Given the description of an element on the screen output the (x, y) to click on. 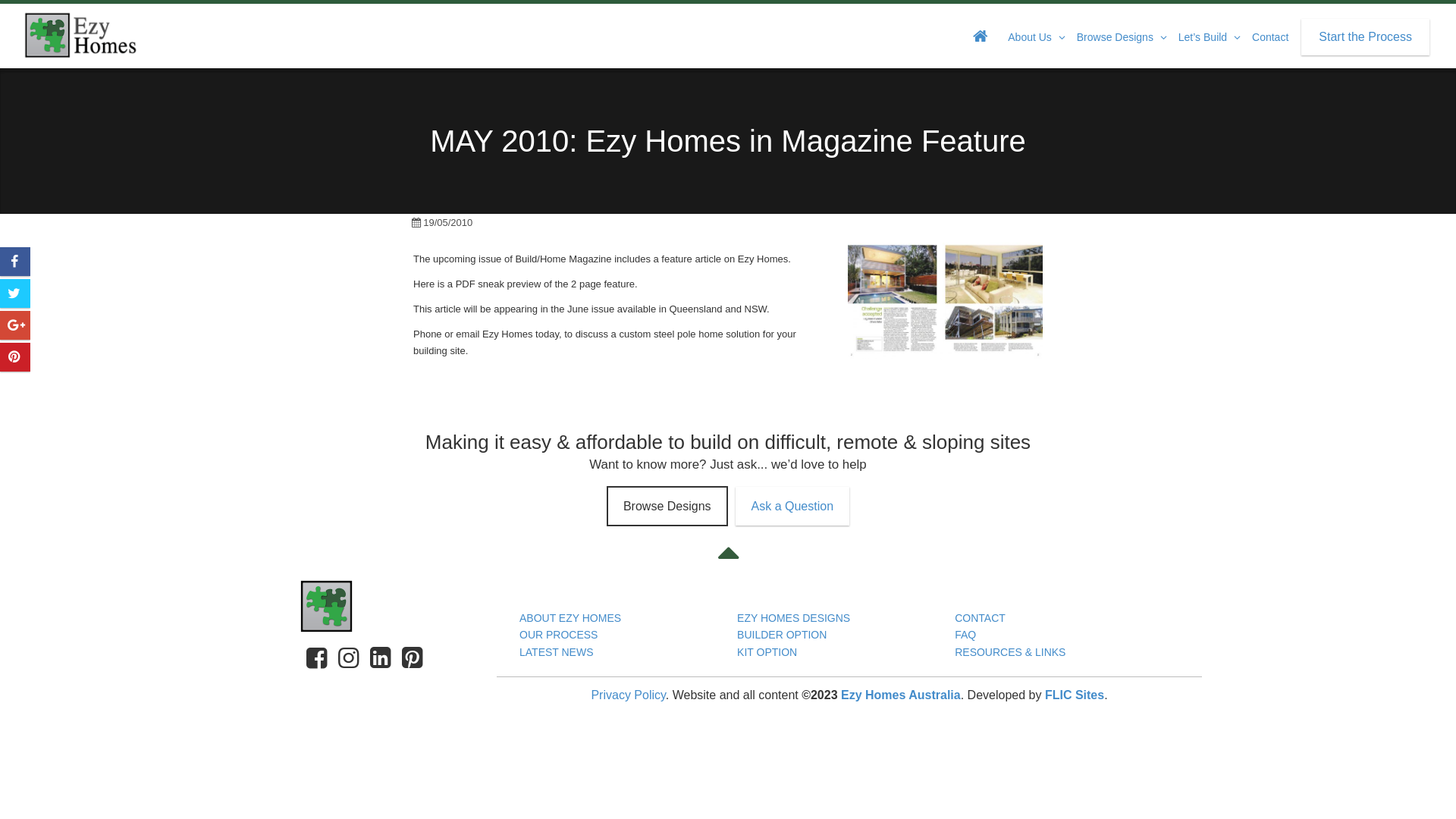
Ask a Question Element type: text (792, 505)
EZY HOMES DESIGNS Element type: text (793, 617)
About Us Element type: text (1032, 36)
FAQ Element type: text (964, 634)
FLIC Sites Element type: text (1074, 694)
Ezy Homes Australia Element type: hover (80, 34)
Ezy Homes Build Home Feature Element type: hover (944, 300)
Privacy Policy Element type: text (627, 694)
Browse Designs Element type: text (667, 506)
LATEST NEWS Element type: text (556, 652)
RESOURCES & LINKS Element type: text (1009, 652)
Home Element type: hover (980, 36)
Ezy-Logo Element type: hover (363, 605)
ABOUT Element type: text (628, 597)
OUR PROCESS Element type: text (558, 634)
SERVICES Element type: text (845, 597)
Start the Process Element type: text (1365, 36)
KIT OPTION Element type: text (767, 652)
QUESTIONS? Element type: text (1063, 597)
Ezy Homes Australia Element type: text (900, 694)
BUILDER OPTION Element type: text (781, 634)
CONTACT Element type: text (979, 617)
19/05/2010 Element type: text (440, 222)
Contact Element type: text (1270, 36)
Browse Designs Element type: text (1118, 36)
ABOUT EZY HOMES Element type: text (570, 617)
